Given the description of an element on the screen output the (x, y) to click on. 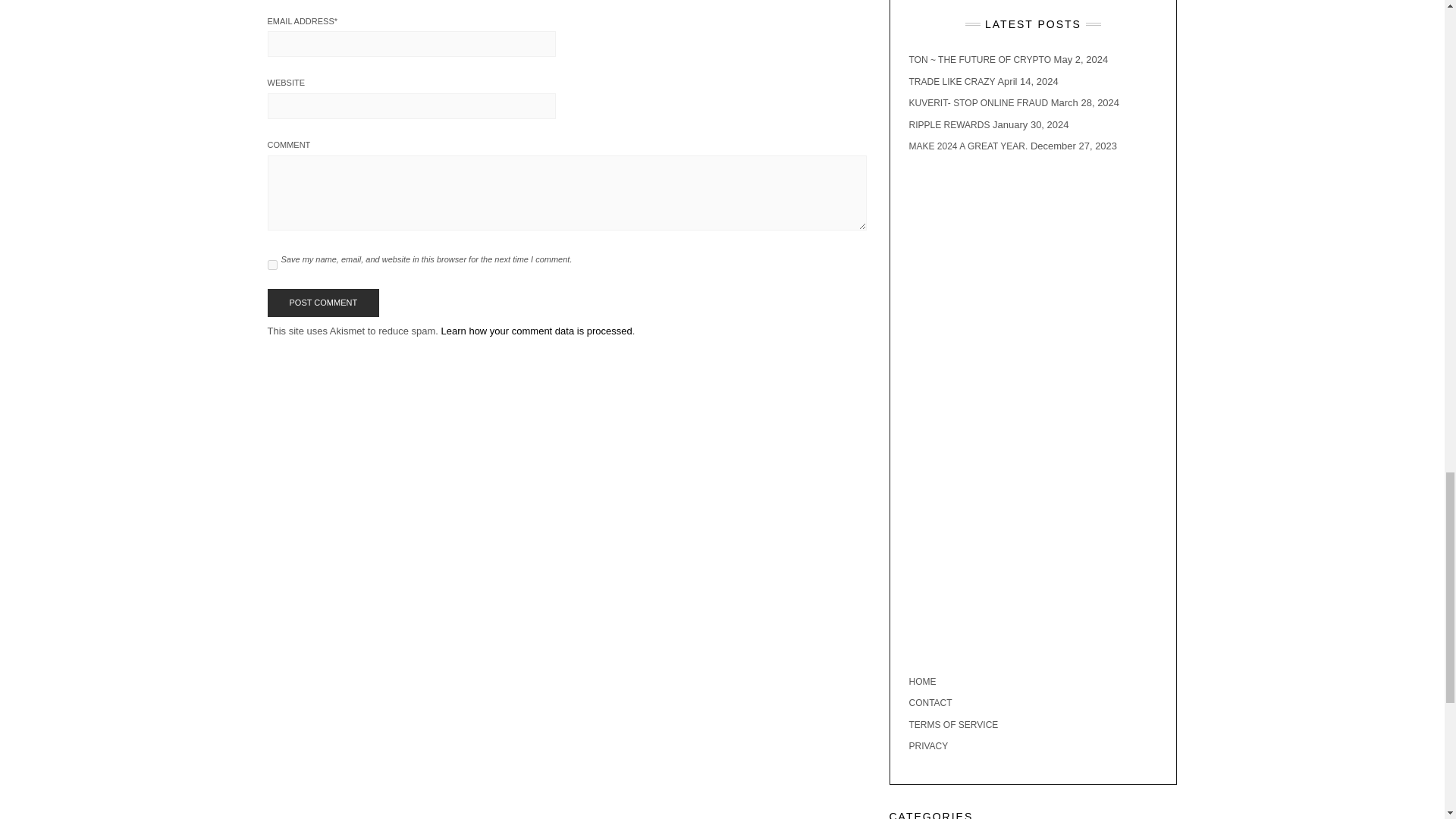
MAKE 2024 A GREAT YEAR. (967, 145)
Learn how your comment data is processed (536, 330)
TRADE LIKE CRAZY (951, 81)
KUVERIT- STOP ONLINE FRAUD (978, 102)
CONTACT (930, 702)
TERMS OF SERVICE (952, 724)
HOME (922, 681)
yes (271, 265)
Post Comment (322, 303)
Post Comment (322, 303)
